Given the description of an element on the screen output the (x, y) to click on. 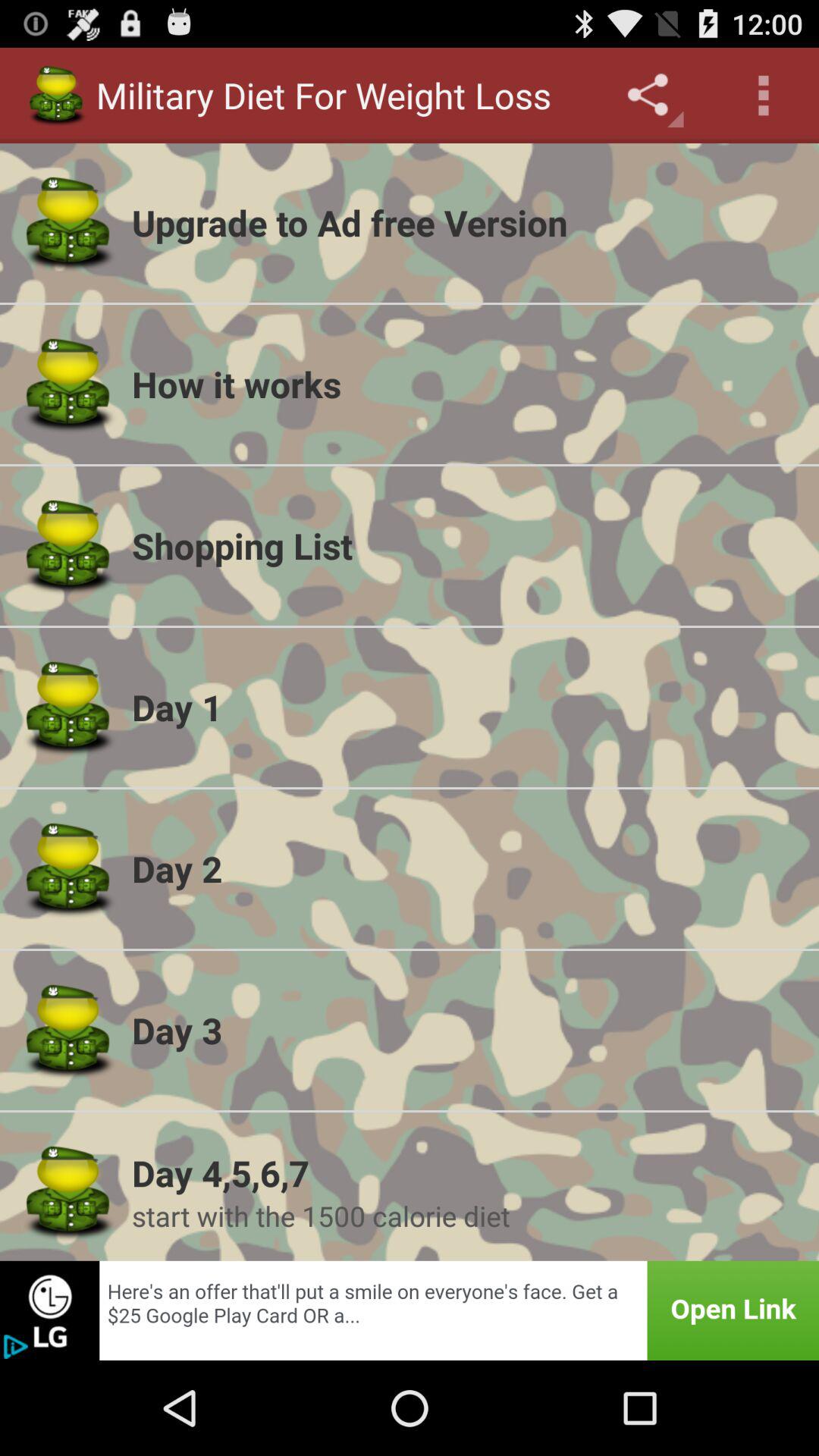
turn off icon above the day 1 item (465, 545)
